Given the description of an element on the screen output the (x, y) to click on. 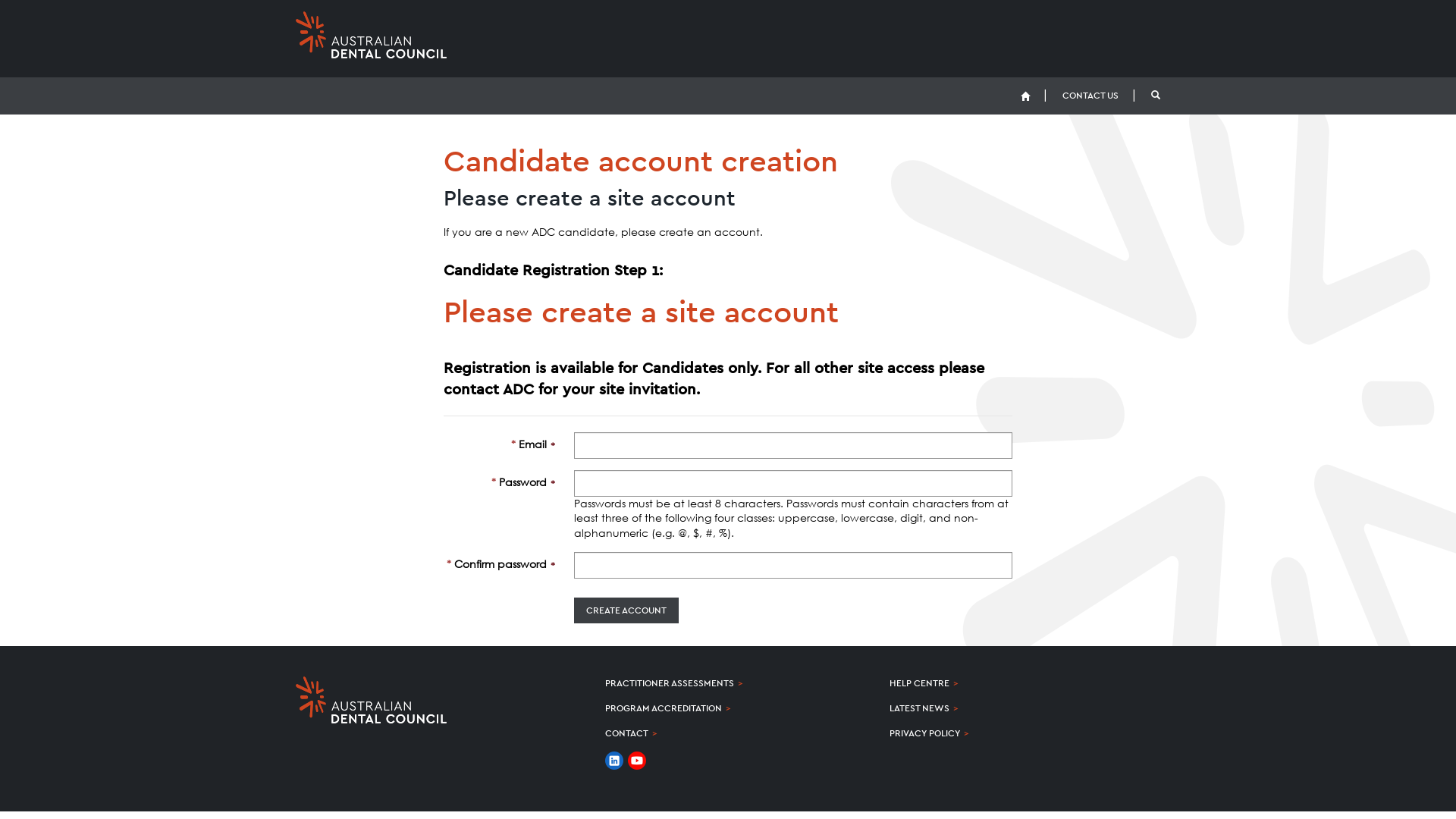
HELP CENTRE Element type: text (919, 683)
Create Account Element type: text (52, 12)
PRIVACY POLICY Element type: text (924, 733)
LATEST NEWS Element type: text (919, 708)
Register Element type: hover (626, 610)
CONTACT US Element type: text (1090, 94)
Search Element type: hover (1155, 94)
PRACTITIONER ASSESSMENTS Element type: text (669, 683)
CONTACT Element type: text (626, 733)
Create Account Element type: text (626, 610)
Home Element type: hover (1025, 95)
PROGRAM ACCREDITATION Element type: text (663, 708)
